Given the description of an element on the screen output the (x, y) to click on. 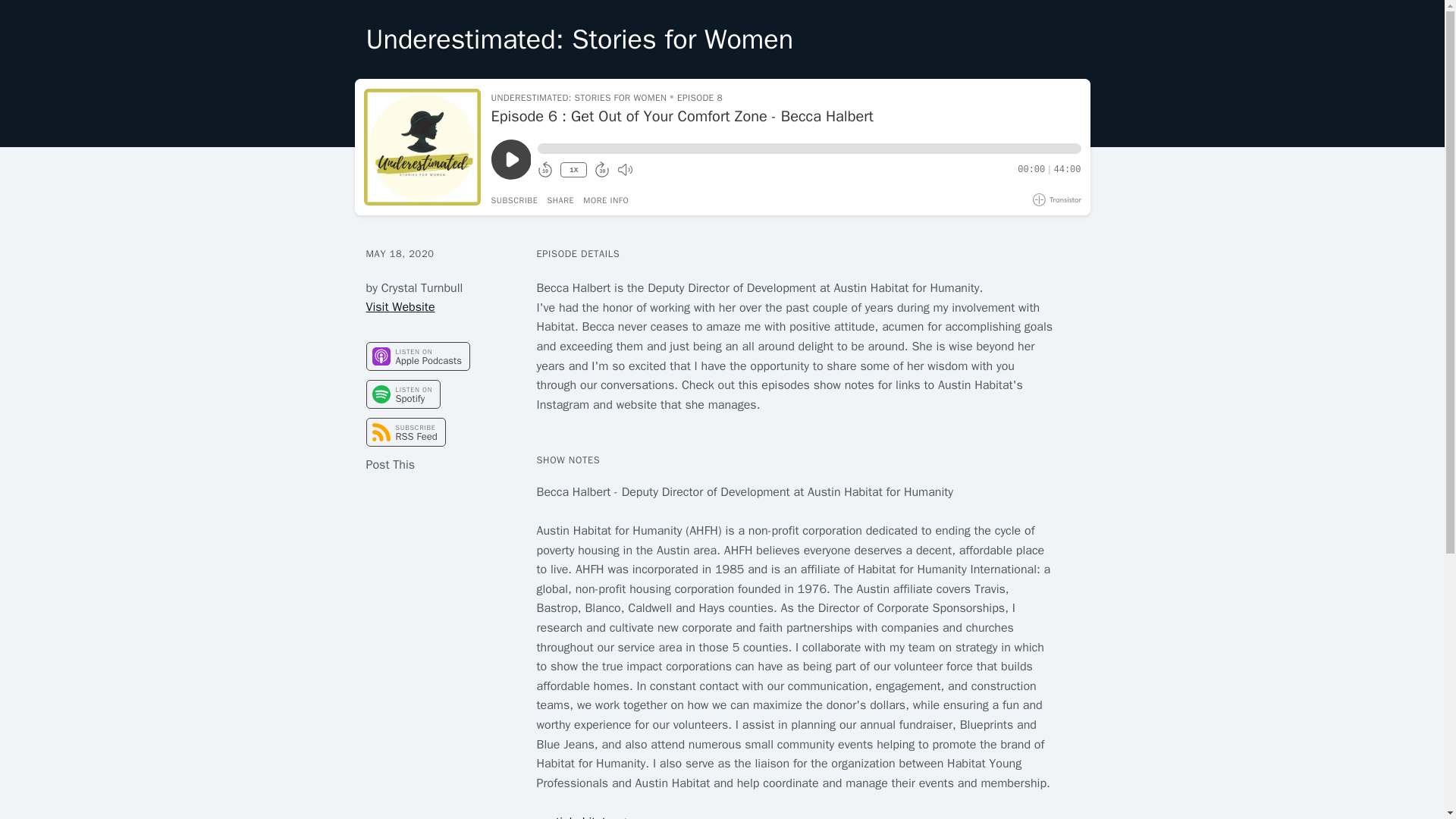
Show subscribe options (515, 200)
Fast Forward 30 seconds (602, 170)
1X (573, 169)
SUBSCRIBE (515, 200)
SHARE (560, 200)
Play (511, 159)
30 (602, 170)
Visit Transistor.fm - Podcast Hosting and Analytics (1056, 199)
10 (545, 170)
Show episode details (605, 200)
Episode 6 : Get Out of Your Comfort Zone - Becca Halbert (786, 116)
Rewind 10 seconds (545, 170)
Show sharing options (560, 200)
MORE INFO (605, 200)
Seek within Episode (808, 148)
